Given the description of an element on the screen output the (x, y) to click on. 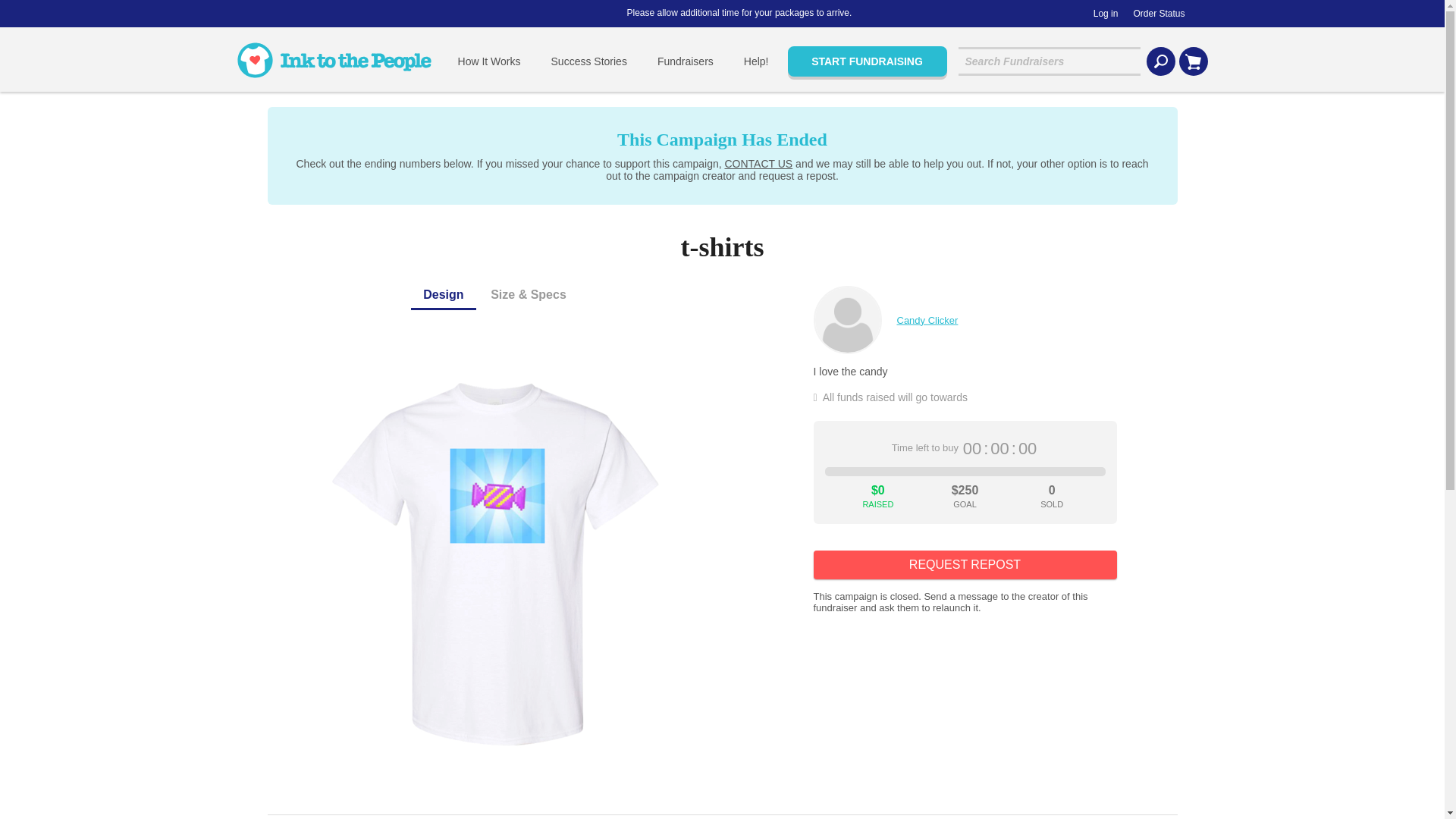
Search (1160, 61)
CONTACT US (757, 163)
Order Status (1158, 13)
Search (1160, 61)
Fundraisers (685, 61)
START FUNDRAISING (866, 60)
Cart (1192, 61)
Success Stories (588, 61)
REQUEST REPOST (964, 564)
Help! (756, 61)
